Given the description of an element on the screen output the (x, y) to click on. 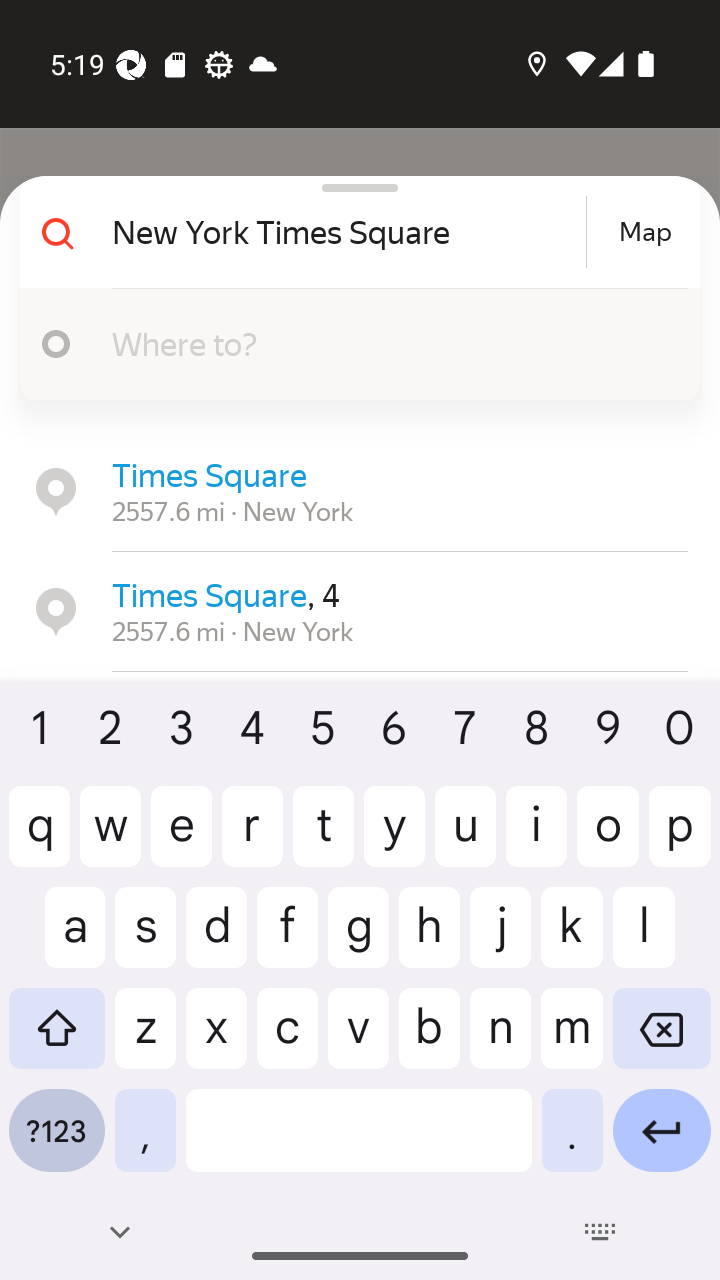
New York Times Square Map Map (352, 232)
Map (645, 232)
New York Times Square (346, 232)
Where to? (352, 343)
Where to? (390, 343)
